Given the description of an element on the screen output the (x, y) to click on. 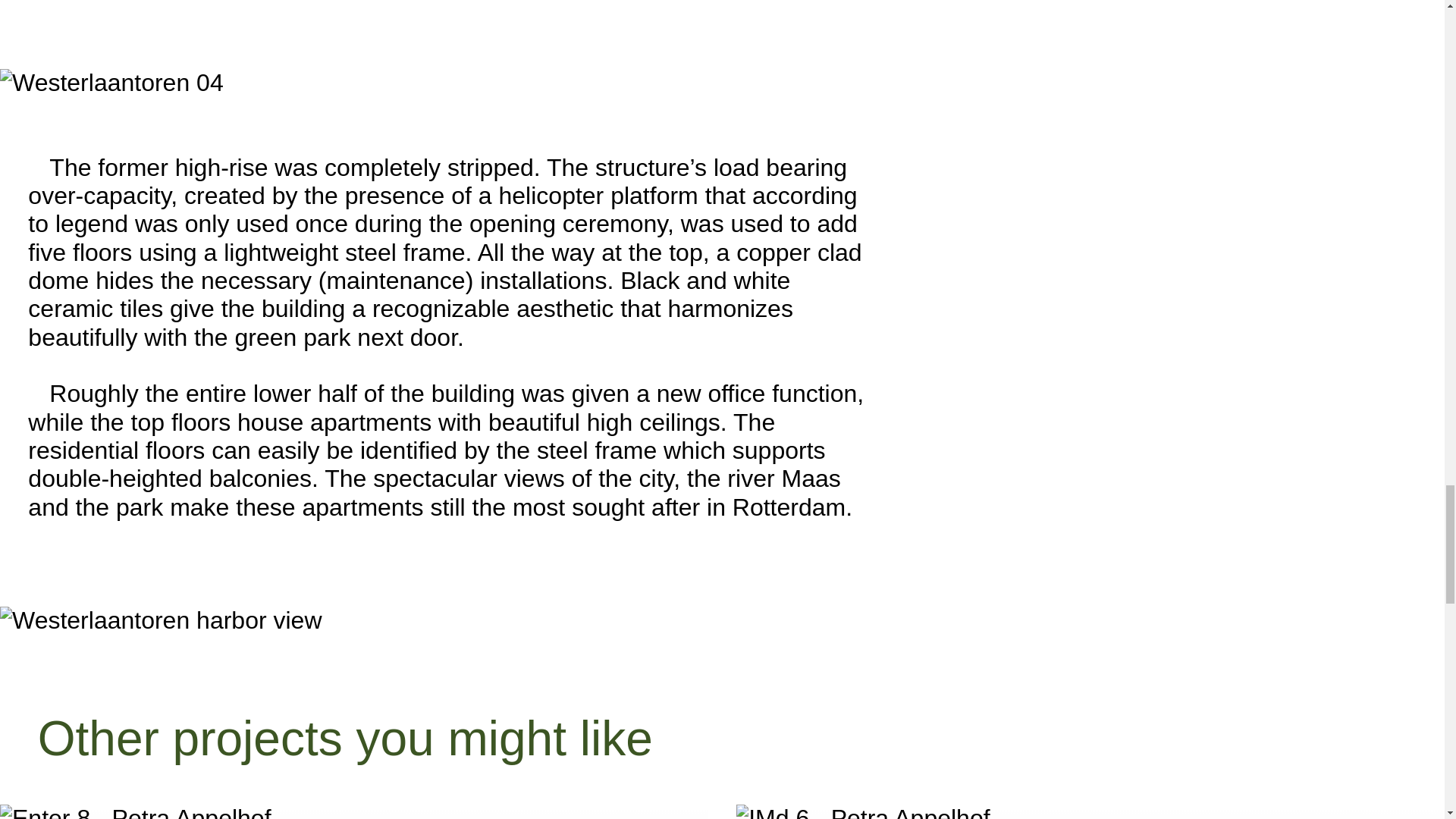
Read more (353, 811)
